Given the description of an element on the screen output the (x, y) to click on. 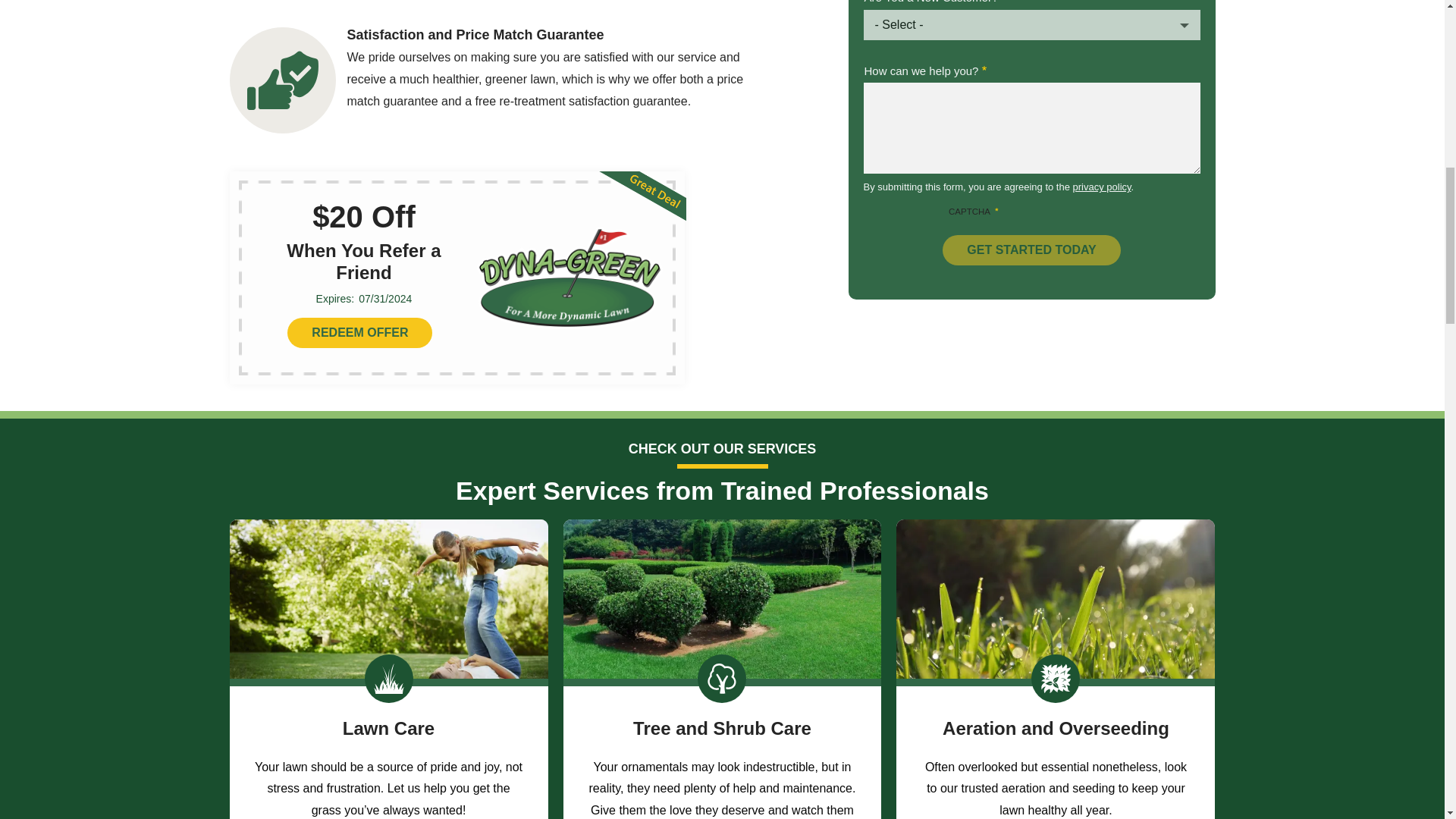
Get Started Today (1030, 250)
